Given the description of an element on the screen output the (x, y) to click on. 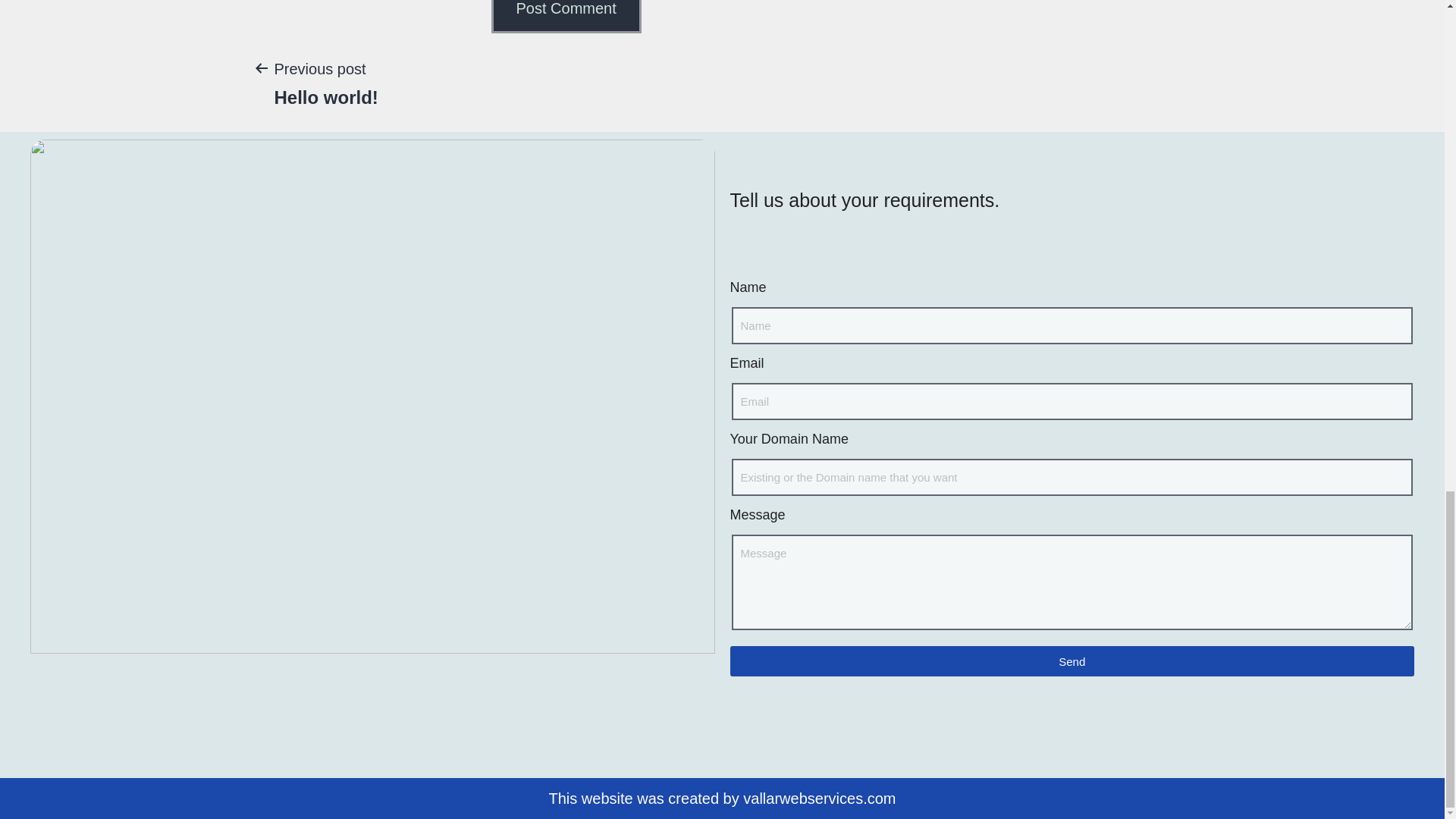
Send (324, 82)
Post Comment (1071, 661)
Post Comment (567, 16)
